Given the description of an element on the screen output the (x, y) to click on. 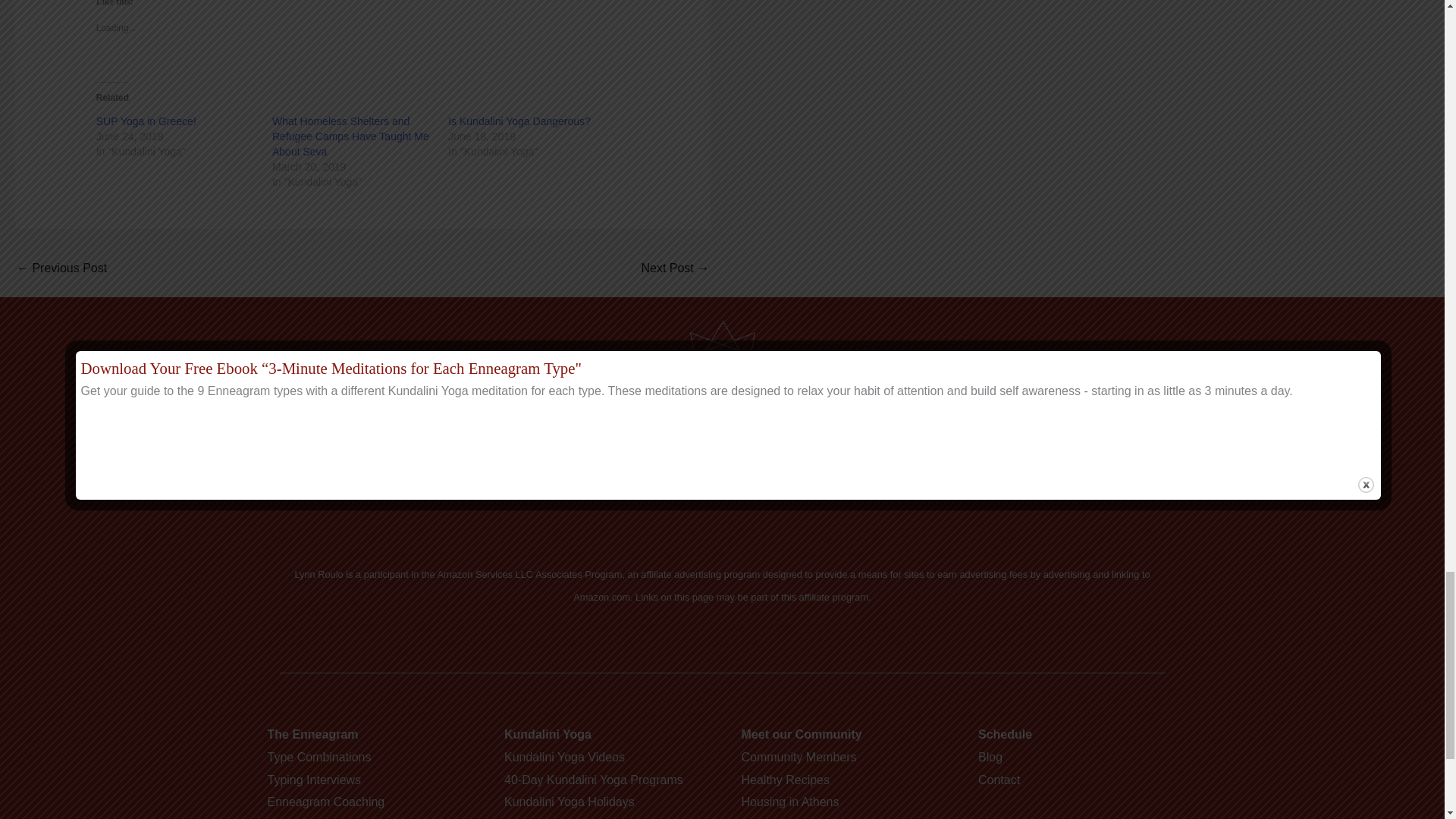
SUP Yoga in Greece! (146, 121)
How to Lose Weight in Four Steps (61, 269)
Is Kundalini Yoga Dangerous? (519, 121)
What I Learned From the Project 333 Fashion Challenge (674, 269)
